Given the description of an element on the screen output the (x, y) to click on. 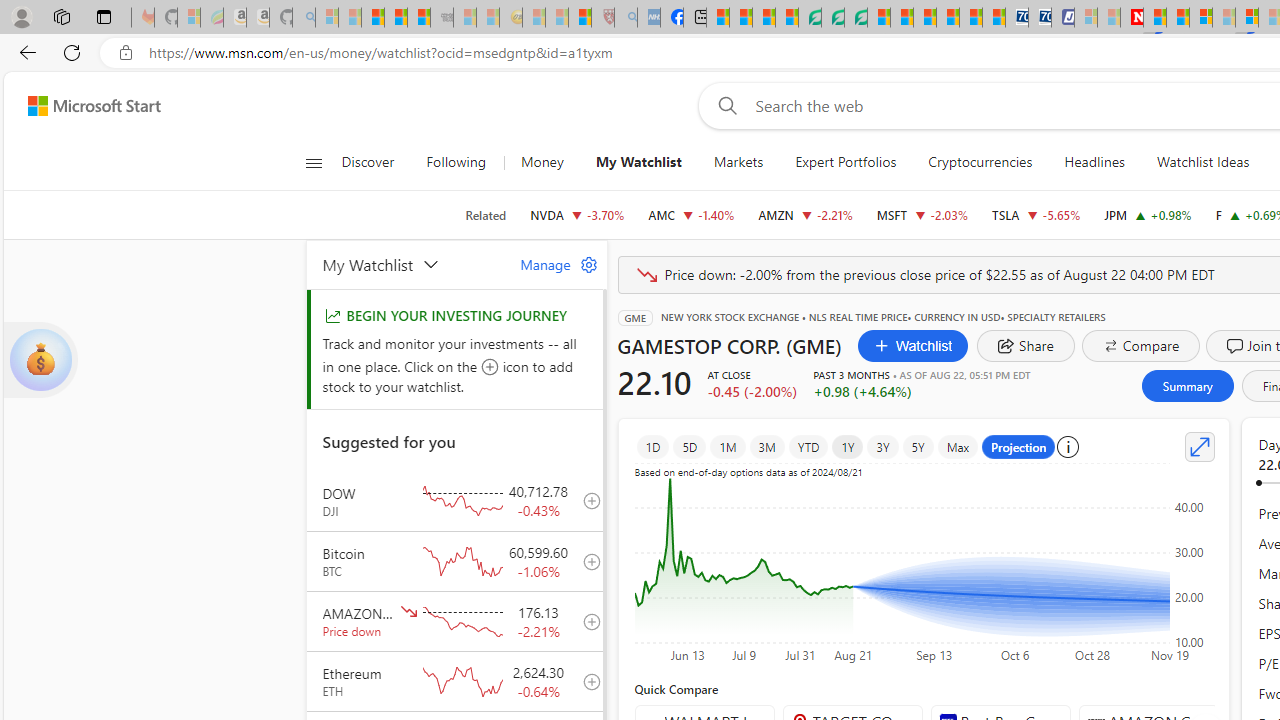
The Weather Channel - MSN (372, 17)
Watchlist Ideas (1202, 162)
1Y (848, 446)
TSLA TESLA, INC. decrease 210.66 -12.61 -5.65% (1036, 214)
Latest Politics News & Archive | Newsweek.com (1132, 17)
